Given the description of an element on the screen output the (x, y) to click on. 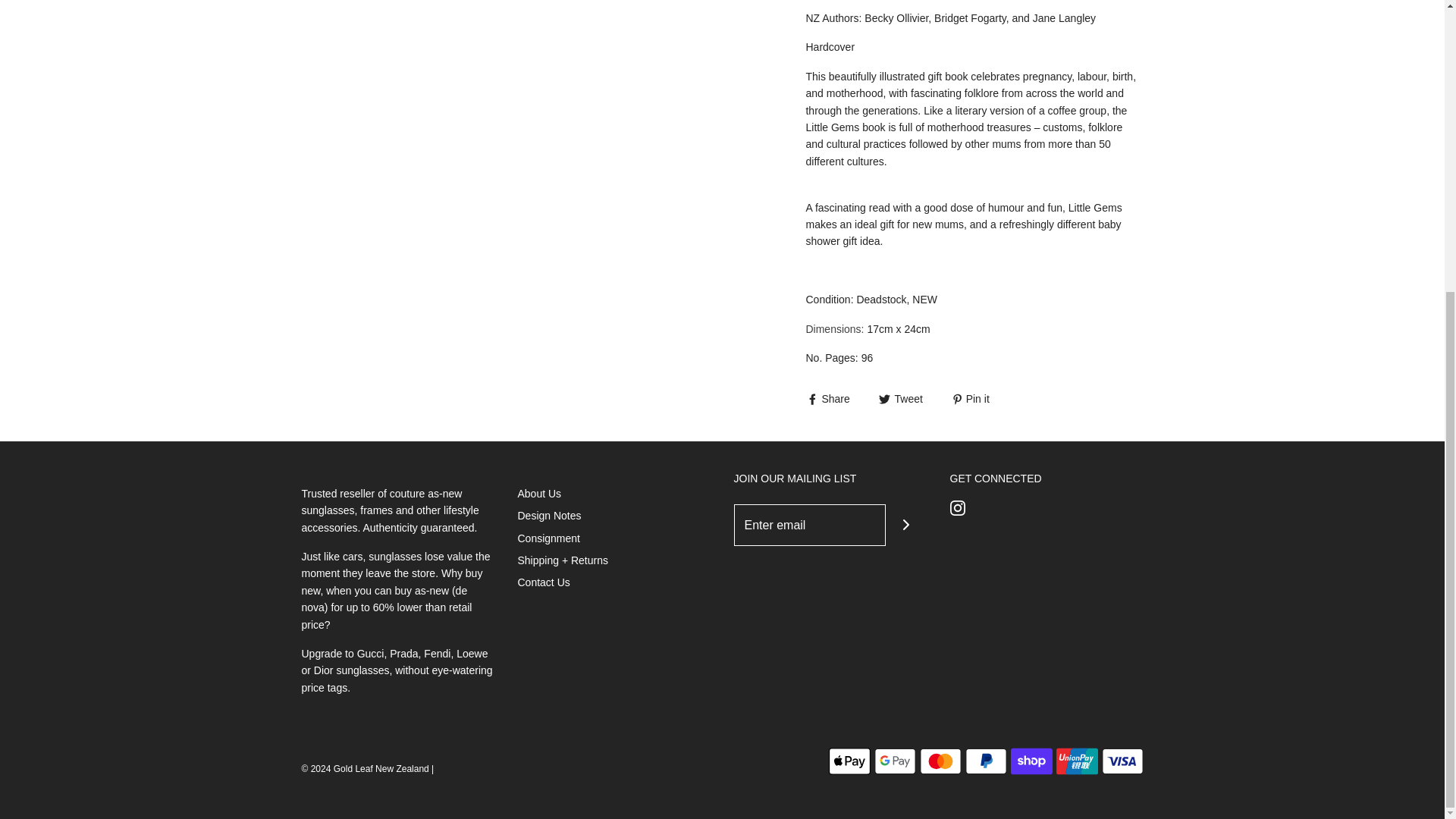
Shop Pay (1030, 761)
Union Pay (1076, 761)
PayPal (984, 761)
Instagram icon (956, 507)
Mastercard (939, 761)
Google Pay (894, 761)
Visa (1121, 761)
Apple Pay (848, 761)
